Given the description of an element on the screen output the (x, y) to click on. 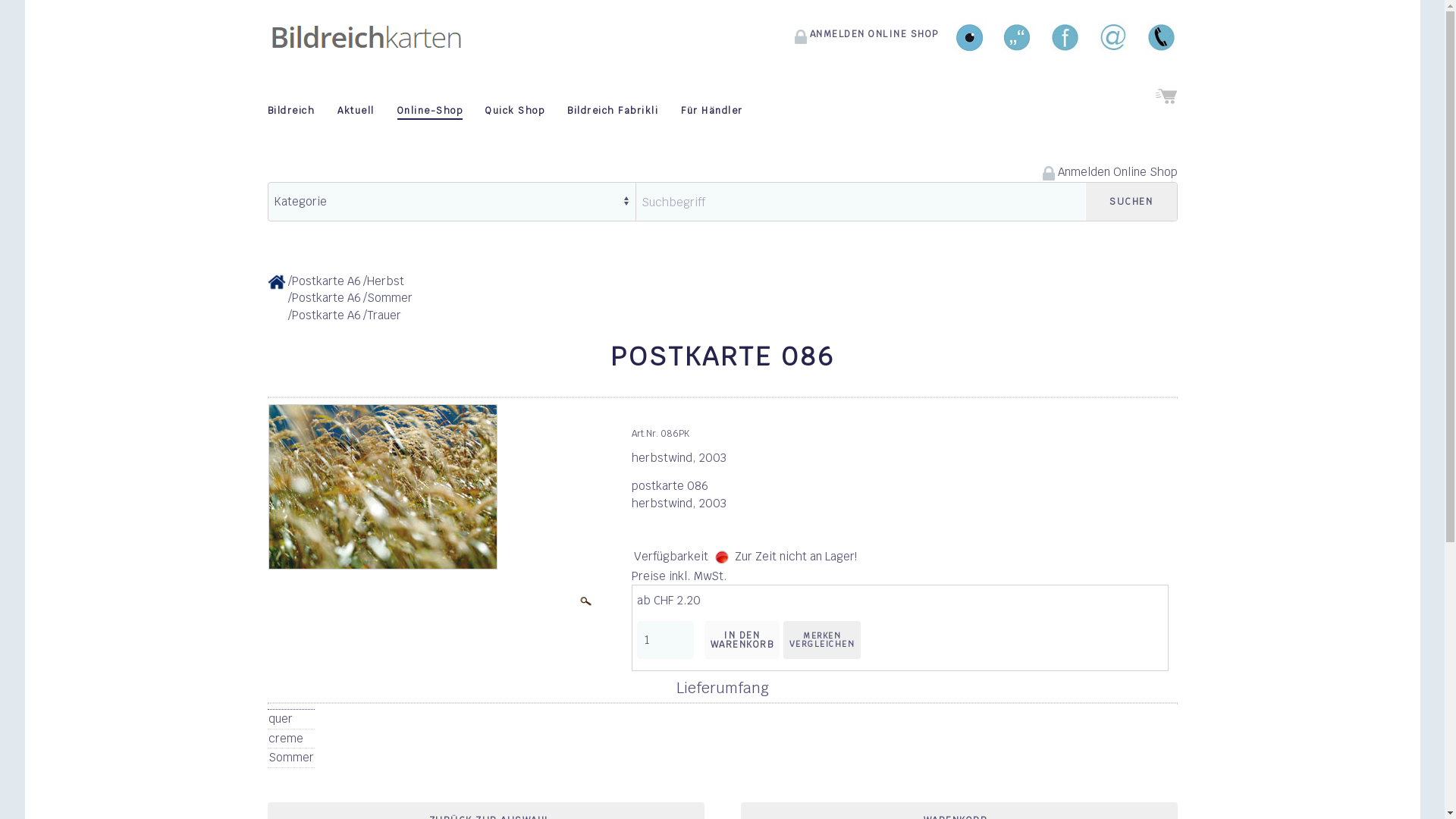
MERKEN
VERGLEICHEN Element type: text (822, 639)
Postkarte A6 Element type: text (325, 280)
Bildreich Fabrikli Element type: text (612, 110)
Bildreich Element type: text (291, 110)
Quick Shop Element type: text (514, 110)
Herbst Element type: text (385, 280)
Sommer Element type: text (389, 297)
Trauer Element type: text (384, 314)
IN DEN
WARENKORB Element type: text (741, 639)
SUCHEN Element type: text (1130, 201)
Postkarte A6 Element type: text (325, 297)
Aktuell Element type: text (355, 110)
  Element type: text (1165, 102)
ANMELDEN ONLINE SHOP Element type: text (864, 36)
Postkarte A6 Element type: text (325, 314)
Online-Shop Element type: text (429, 110)
